Given the description of an element on the screen output the (x, y) to click on. 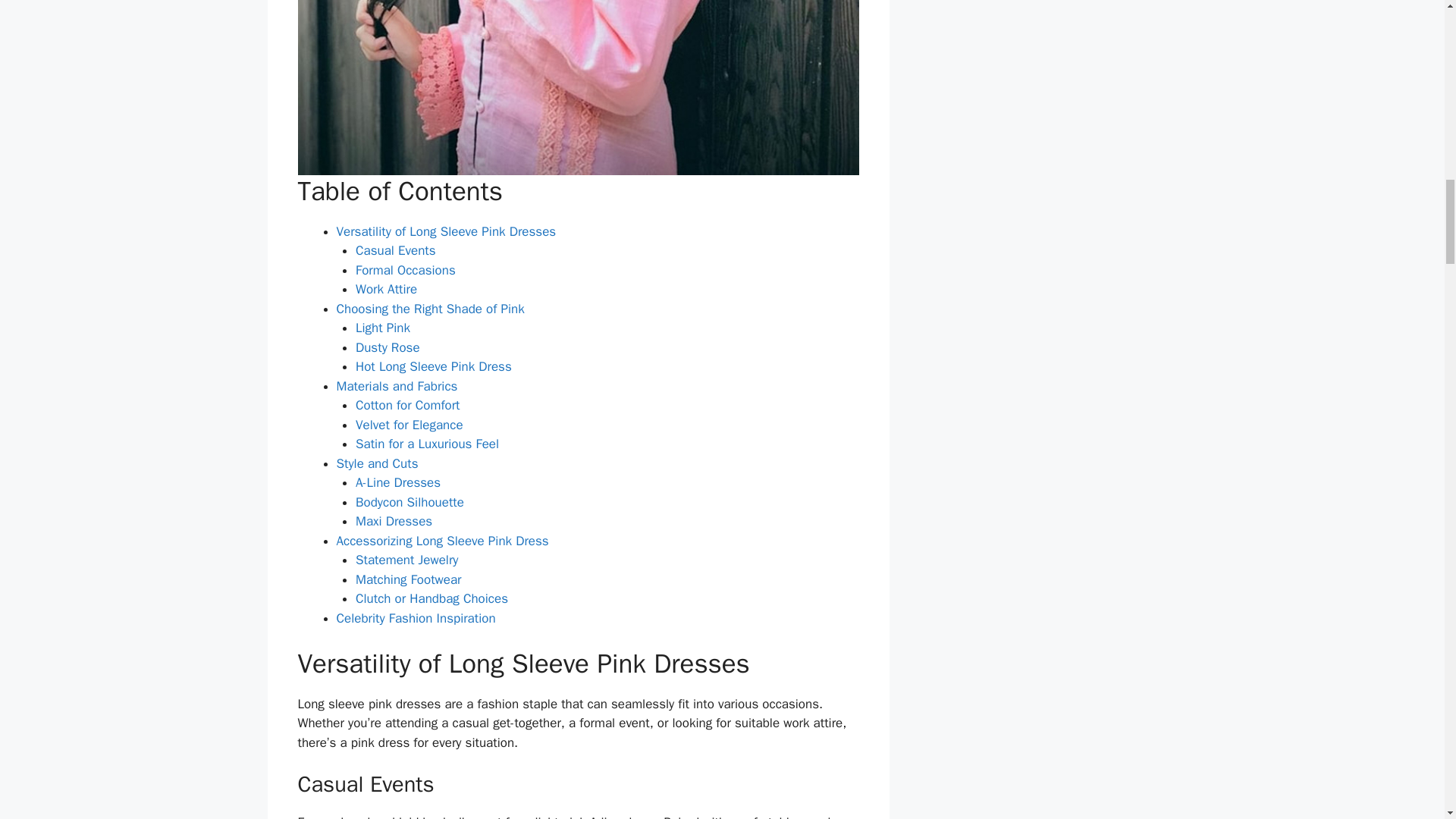
Satin for a Luxurious Feel (427, 443)
A-Line Dresses (398, 482)
Accessorizing Long Sleeve Pink Dress (442, 540)
Style and Cuts (377, 463)
Maxi Dresses (393, 521)
Matching Footwear (408, 579)
Materials and Fabrics (397, 385)
Statement Jewelry (406, 560)
Dusty Rose (387, 347)
Clutch or Handbag Choices (431, 598)
